Given the description of an element on the screen output the (x, y) to click on. 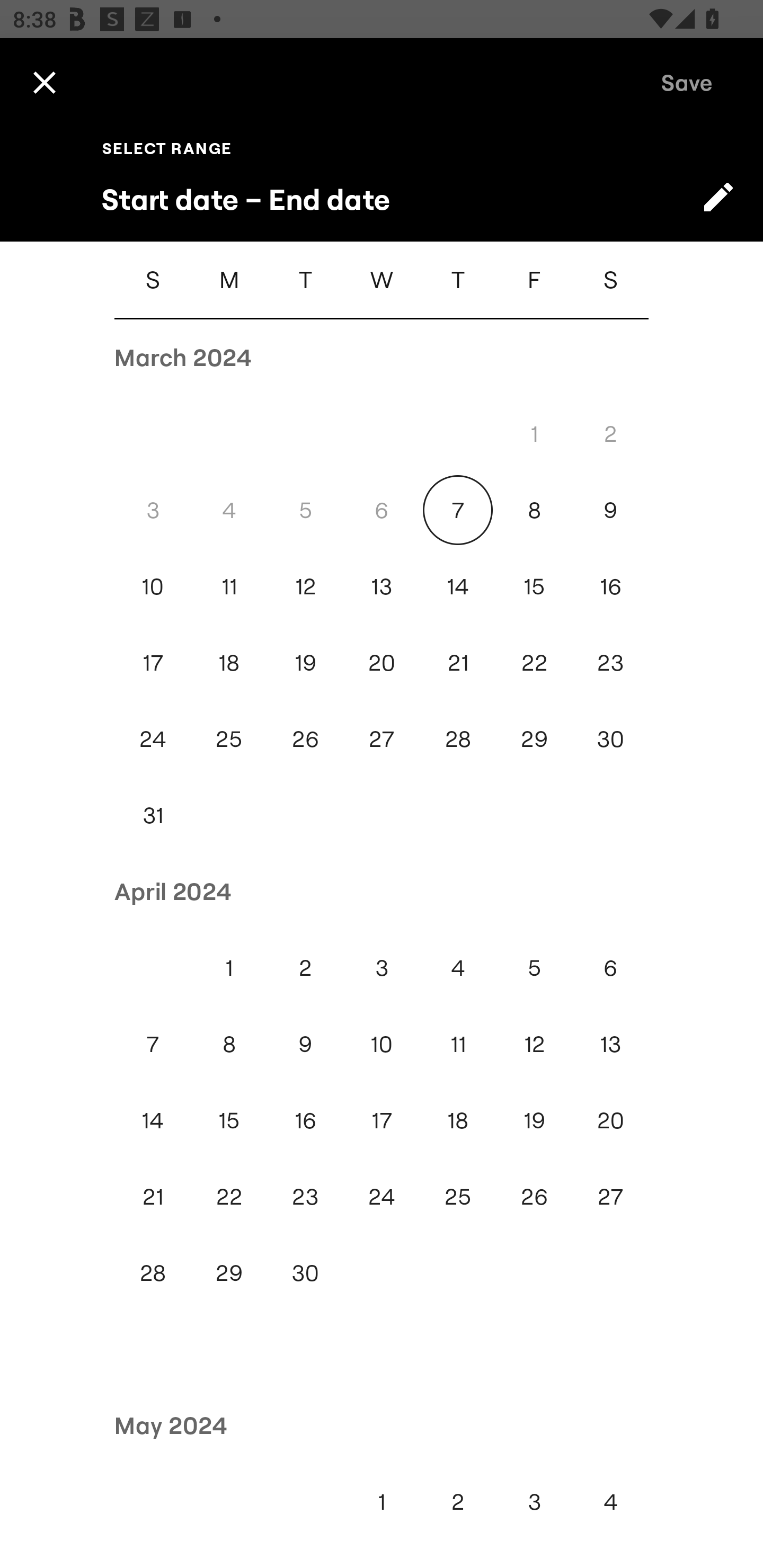
Cancel (44, 81)
Save (686, 81)
Switch to text input mode (718, 196)
1 Fri, Mar 1 (533, 433)
2 Sat, Mar 2 (610, 433)
3 Sun, Mar 3 (152, 509)
4 Mon, Mar 4 (228, 509)
5 Tue, Mar 5 (305, 509)
6 Wed, Mar 6 (381, 509)
7 Thu, Mar 7 (457, 509)
8 Fri, Mar 8 (533, 509)
9 Sat, Mar 9 (610, 509)
10 Sun, Mar 10 (152, 586)
11 Mon, Mar 11 (228, 586)
12 Tue, Mar 12 (305, 586)
13 Wed, Mar 13 (381, 586)
14 Thu, Mar 14 (457, 586)
15 Fri, Mar 15 (533, 586)
16 Sat, Mar 16 (610, 586)
17 Sun, Mar 17 (152, 662)
18 Mon, Mar 18 (228, 662)
19 Tue, Mar 19 (305, 662)
20 Wed, Mar 20 (381, 662)
21 Thu, Mar 21 (457, 662)
22 Fri, Mar 22 (533, 662)
23 Sat, Mar 23 (610, 662)
24 Sun, Mar 24 (152, 738)
25 Mon, Mar 25 (228, 738)
26 Tue, Mar 26 (305, 738)
27 Wed, Mar 27 (381, 738)
28 Thu, Mar 28 (457, 738)
29 Fri, Mar 29 (533, 738)
30 Sat, Mar 30 (610, 738)
31 Sun, Mar 31 (152, 814)
1 Mon, Apr 1 (228, 967)
2 Tue, Apr 2 (305, 967)
3 Wed, Apr 3 (381, 967)
4 Thu, Apr 4 (457, 967)
5 Fri, Apr 5 (533, 967)
6 Sat, Apr 6 (610, 967)
7 Sun, Apr 7 (152, 1043)
8 Mon, Apr 8 (228, 1043)
9 Tue, Apr 9 (305, 1043)
10 Wed, Apr 10 (381, 1043)
11 Thu, Apr 11 (457, 1043)
12 Fri, Apr 12 (533, 1043)
13 Sat, Apr 13 (610, 1043)
14 Sun, Apr 14 (152, 1119)
15 Mon, Apr 15 (228, 1119)
16 Tue, Apr 16 (305, 1119)
17 Wed, Apr 17 (381, 1119)
18 Thu, Apr 18 (457, 1119)
19 Fri, Apr 19 (533, 1119)
20 Sat, Apr 20 (610, 1119)
21 Sun, Apr 21 (152, 1196)
22 Mon, Apr 22 (228, 1196)
23 Tue, Apr 23 (305, 1196)
24 Wed, Apr 24 (381, 1196)
25 Thu, Apr 25 (457, 1196)
26 Fri, Apr 26 (533, 1196)
27 Sat, Apr 27 (610, 1196)
28 Sun, Apr 28 (152, 1272)
29 Mon, Apr 29 (228, 1272)
30 Tue, Apr 30 (305, 1272)
1 Wed, May 1 (381, 1500)
2 Thu, May 2 (457, 1500)
3 Fri, May 3 (533, 1500)
4 Sat, May 4 (610, 1500)
